Given the description of an element on the screen output the (x, y) to click on. 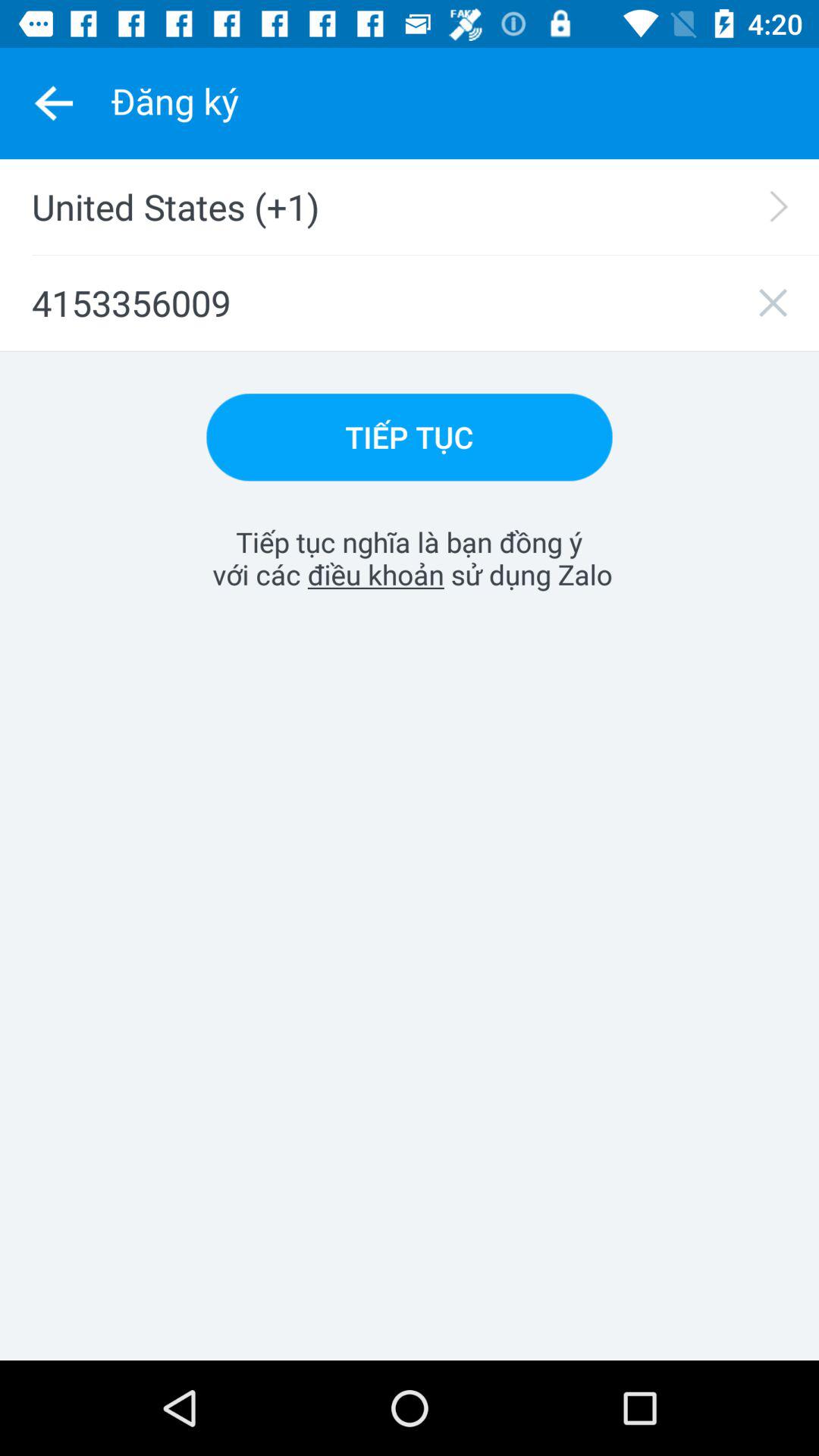
scroll until united states (+1) (419, 206)
